Given the description of an element on the screen output the (x, y) to click on. 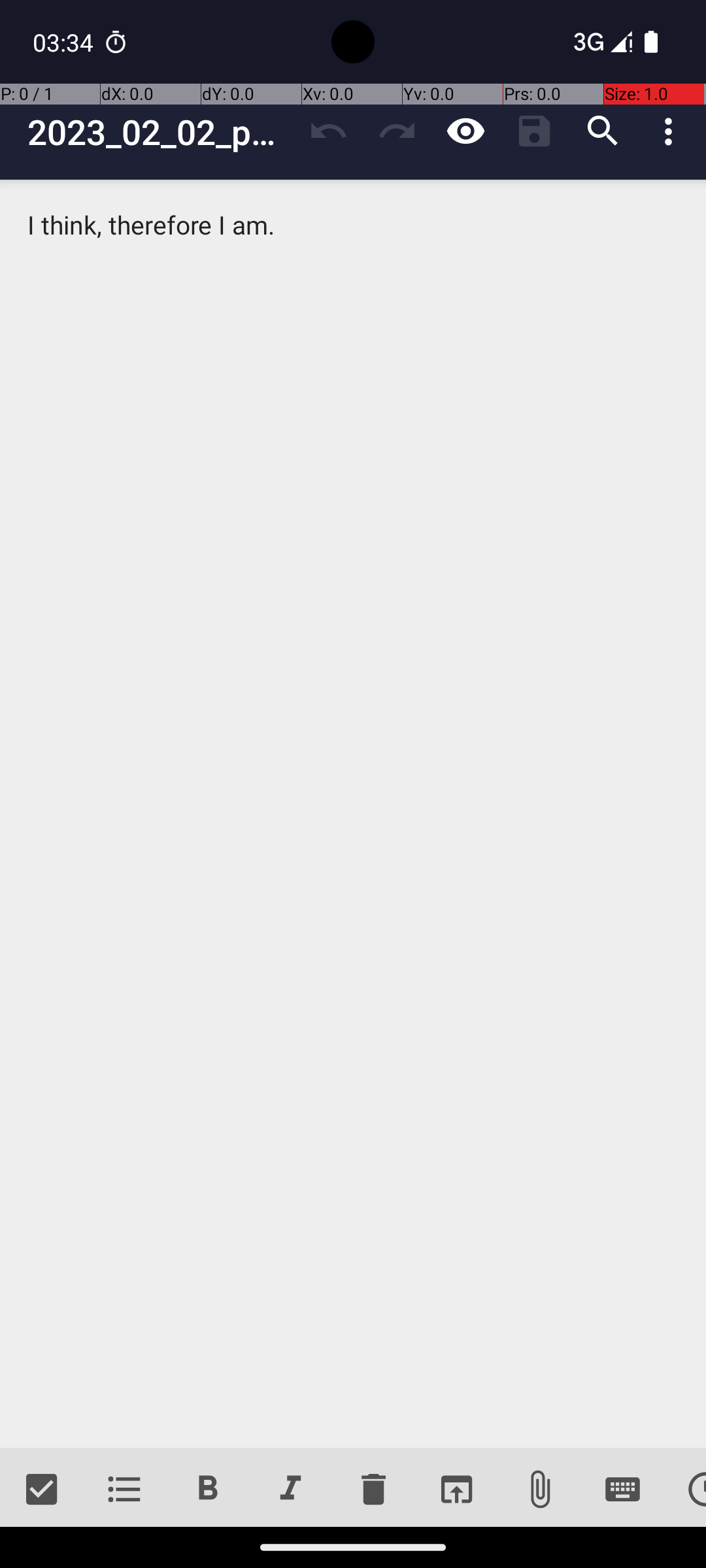
2023_02_02_polite_cat Element type: android.widget.TextView (160, 131)
I think, therefore I am.
 Element type: android.widget.EditText (353, 813)
03:34 Element type: android.widget.TextView (64, 41)
